Given the description of an element on the screen output the (x, y) to click on. 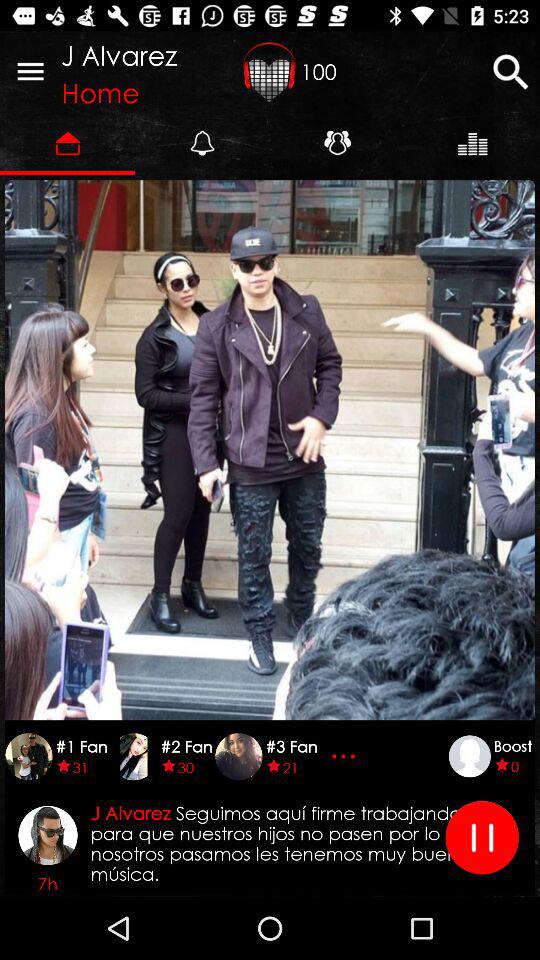
three dots (346, 756)
